Given the description of an element on the screen output the (x, y) to click on. 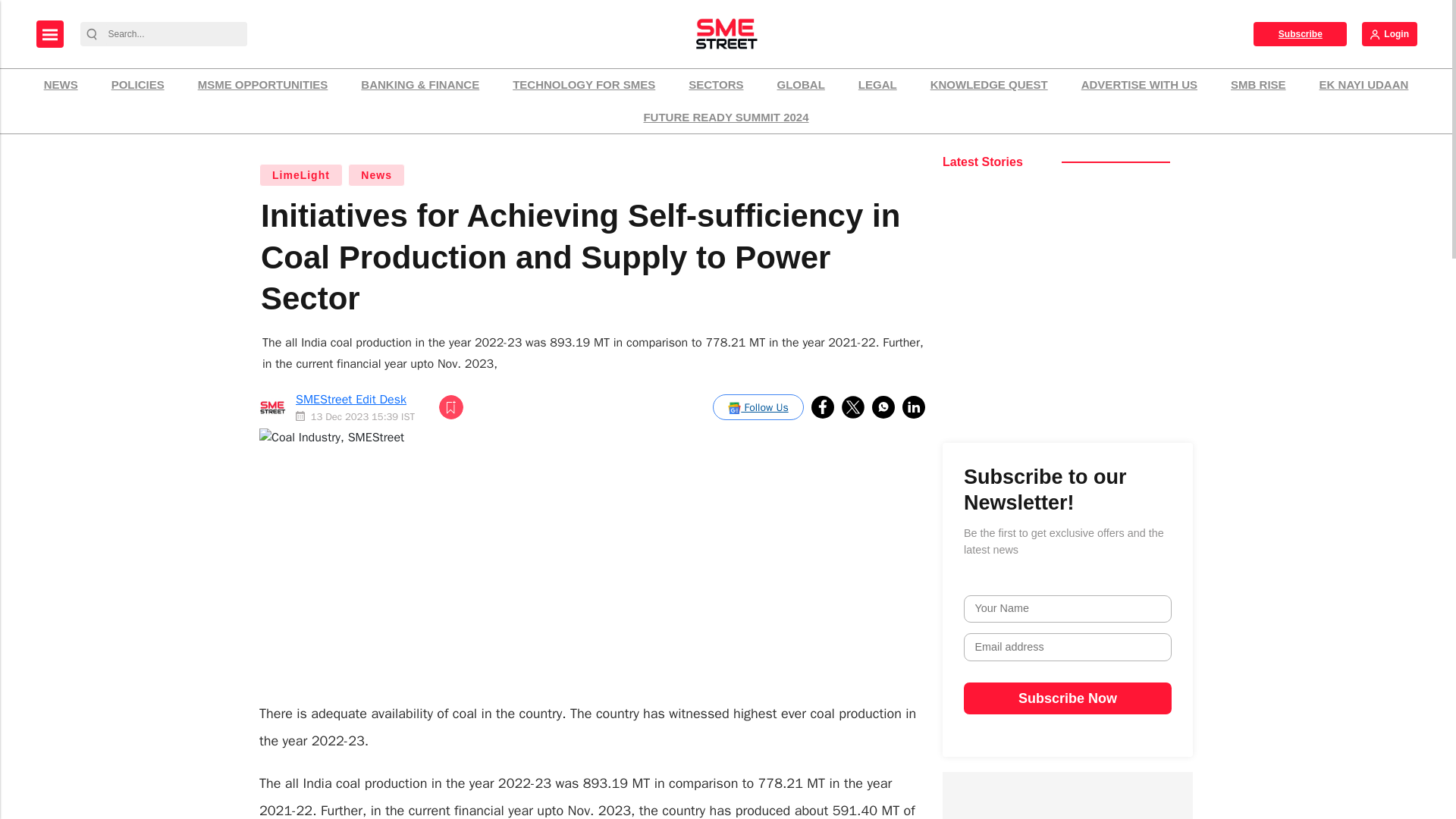
SECTORS (715, 84)
POLICIES (138, 84)
KNOWLEDGE QUEST (988, 84)
SMEStreet Edit Desk (350, 399)
ADVERTISE WITH US (1139, 84)
NEWS (60, 84)
FUTURE READY SUMMIT 2024 (725, 117)
News (375, 174)
MSME OPPORTUNITIES (262, 84)
Subscribe (1299, 33)
